Given the description of an element on the screen output the (x, y) to click on. 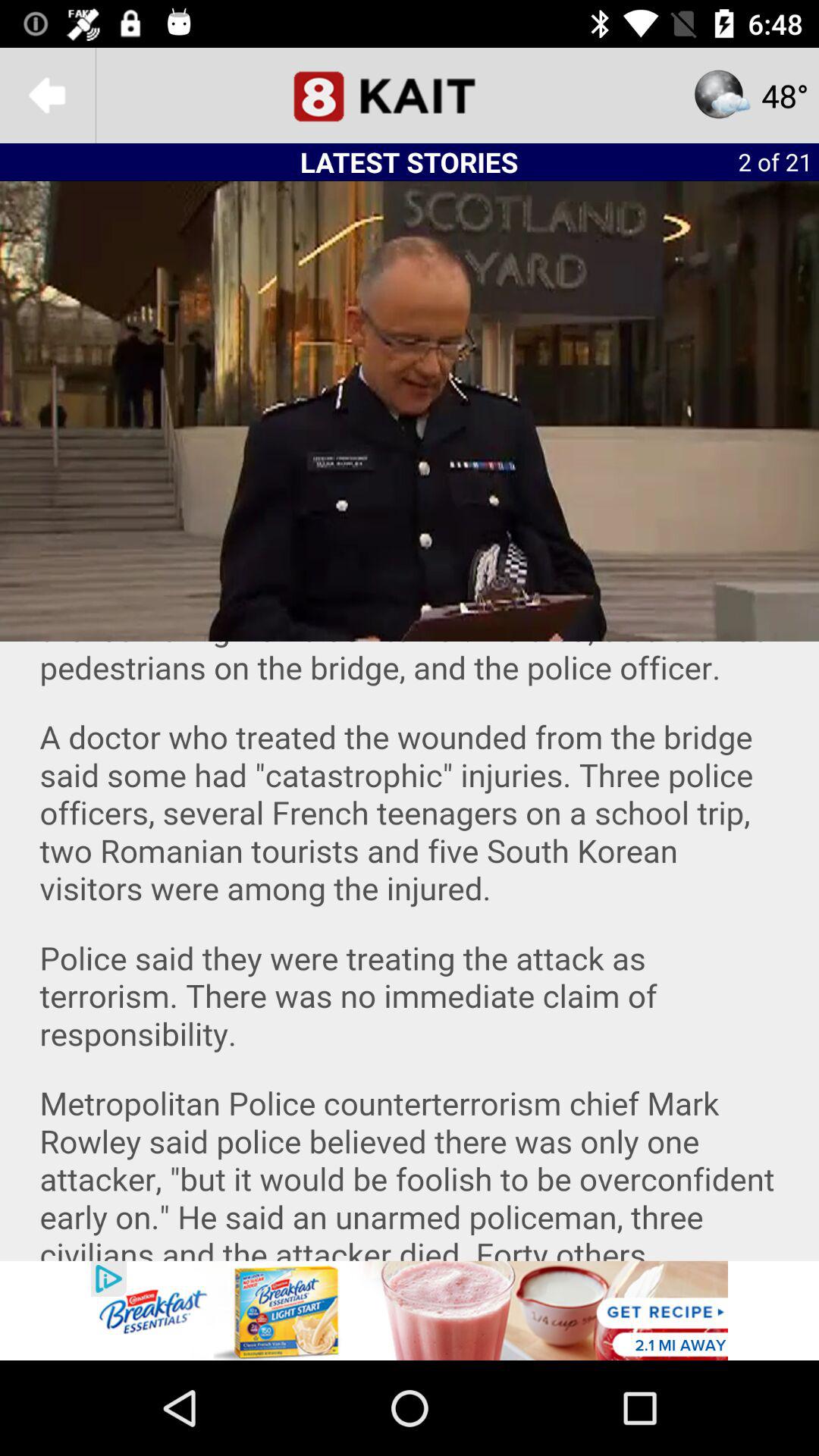
news page (409, 95)
